Given the description of an element on the screen output the (x, y) to click on. 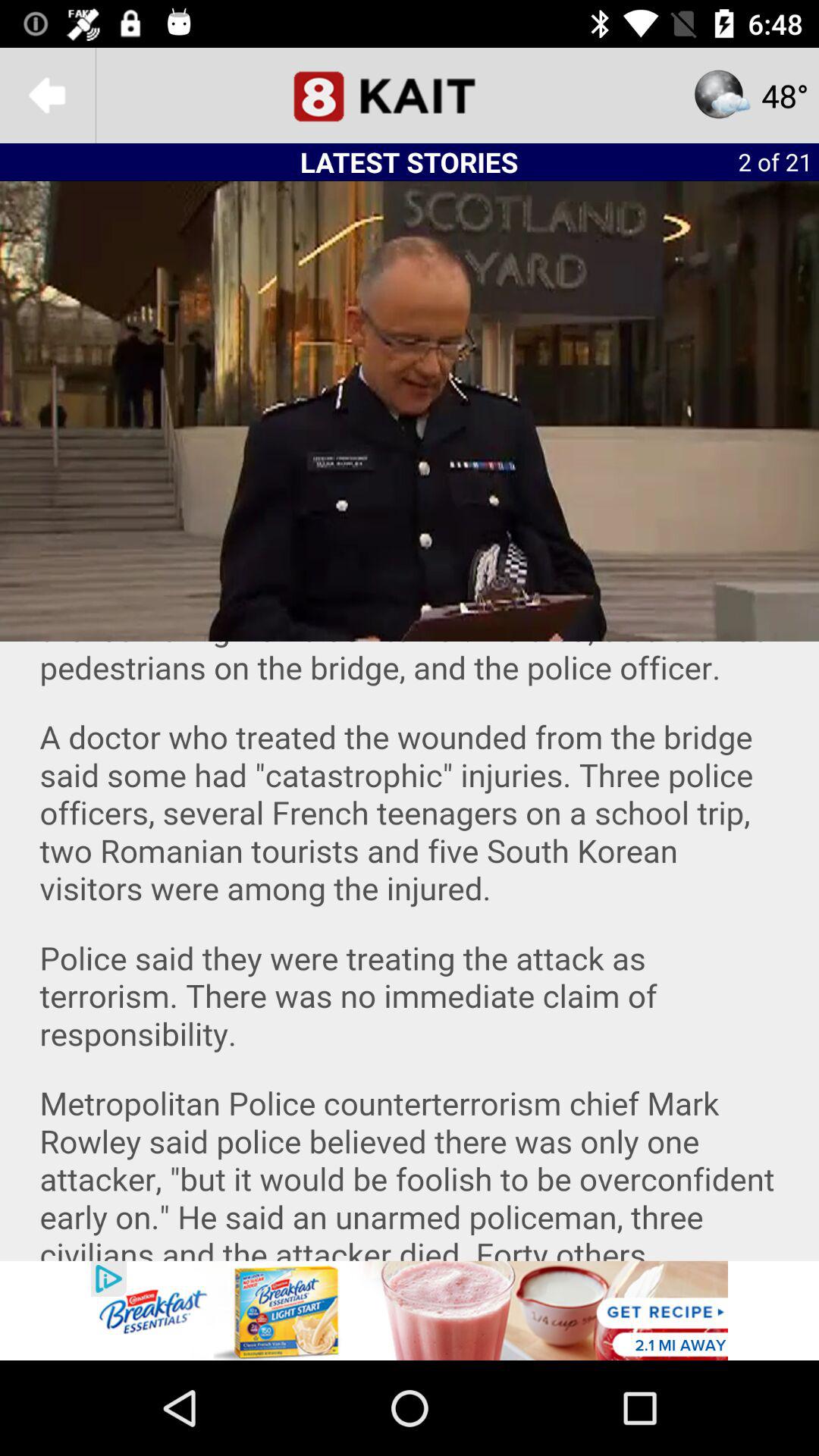
news page (409, 95)
